Given the description of an element on the screen output the (x, y) to click on. 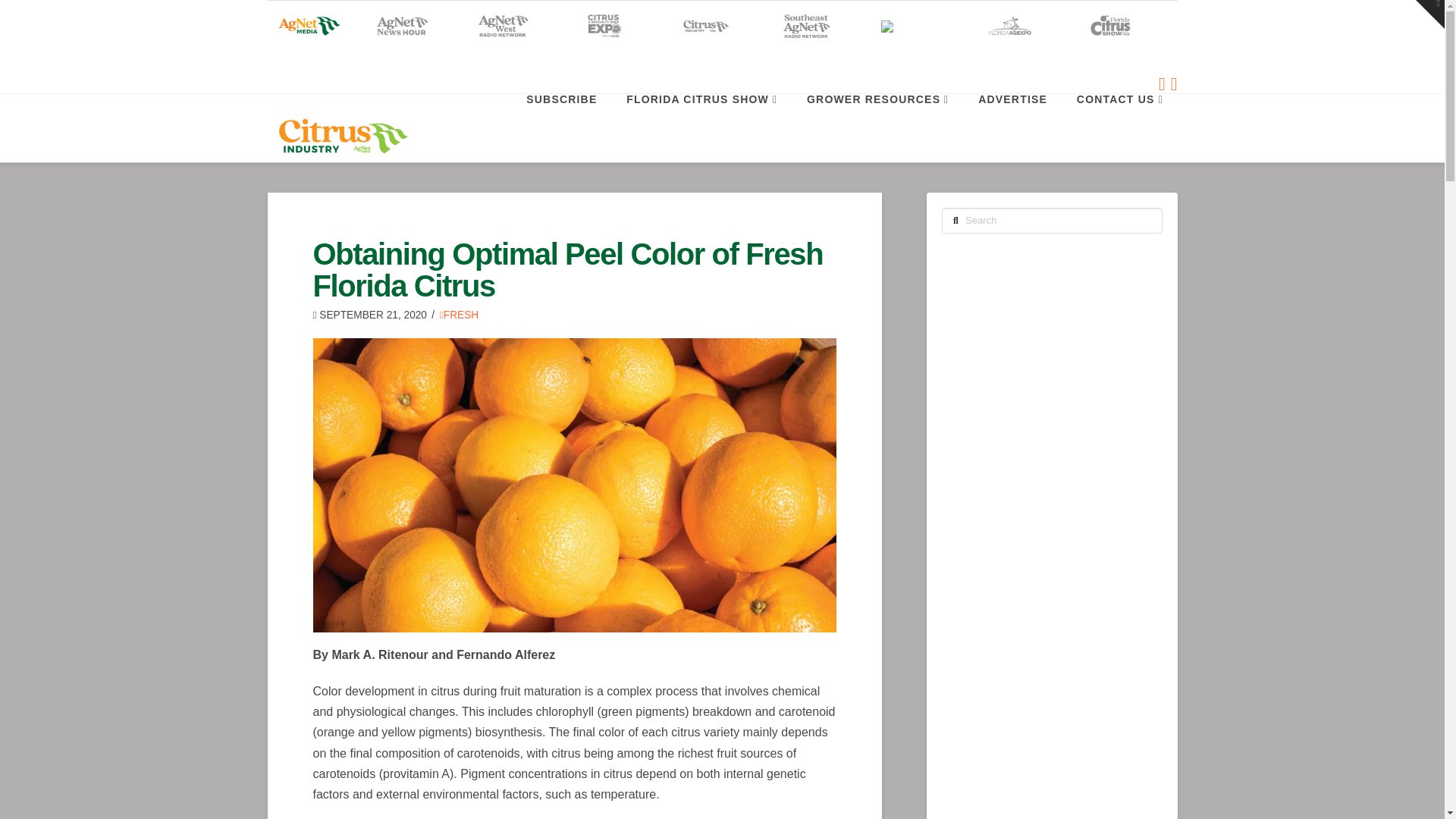
GROWER RESOURCES (877, 128)
CONTACT US (1119, 128)
SUBSCRIBE (561, 128)
ADVERTISE (1011, 128)
FLORIDA CITRUS SHOW (701, 128)
